Given the description of an element on the screen output the (x, y) to click on. 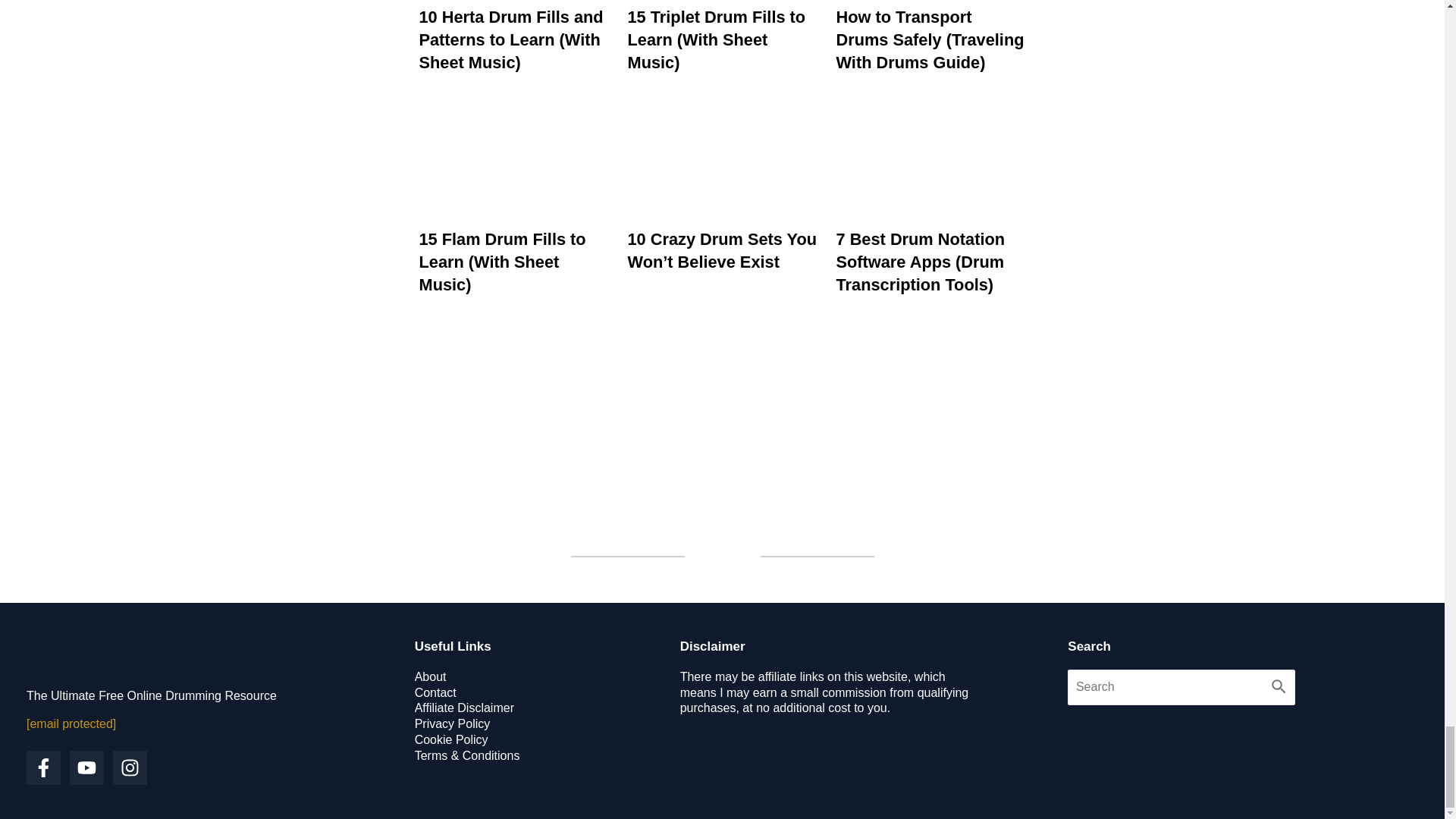
DMCA.com Protection Status (1108, 735)
